Given the description of an element on the screen output the (x, y) to click on. 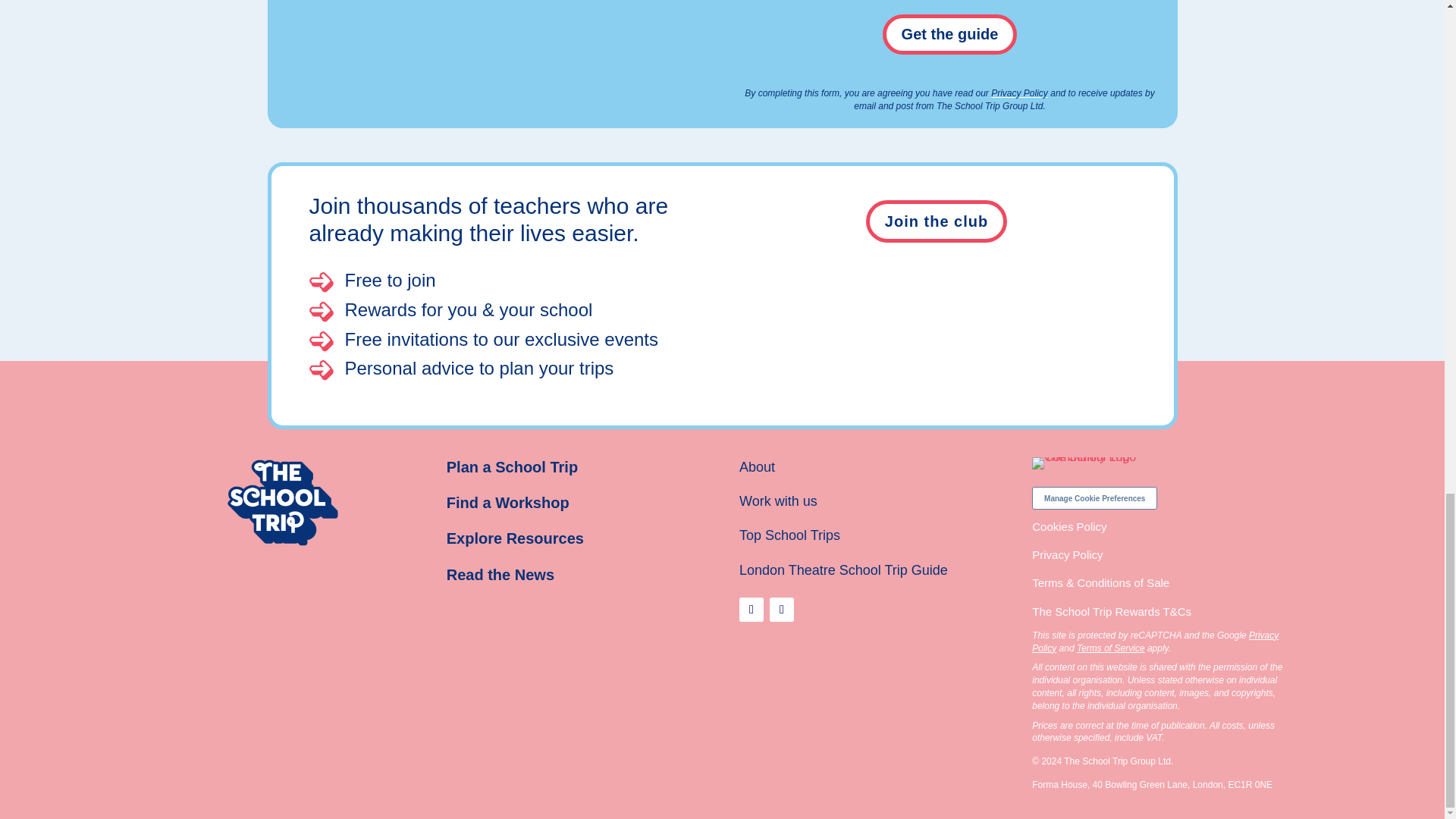
London Theatre School Trip Guide (843, 570)
Top School Trips (789, 534)
Join the club (936, 220)
Read the News (500, 574)
Privacy Policy (1019, 92)
The School Trip Logo 500x400 Dark Blue (282, 502)
STAR Logo 655x250px (1094, 463)
About (756, 467)
Cookies Policy (1069, 526)
Follow on X (781, 609)
Find a Workshop (507, 502)
Plan a School Trip (512, 466)
Explore Resources (514, 538)
Manage Cookie Preferences (1094, 497)
Privacy Policy (1155, 641)
